Given the description of an element on the screen output the (x, y) to click on. 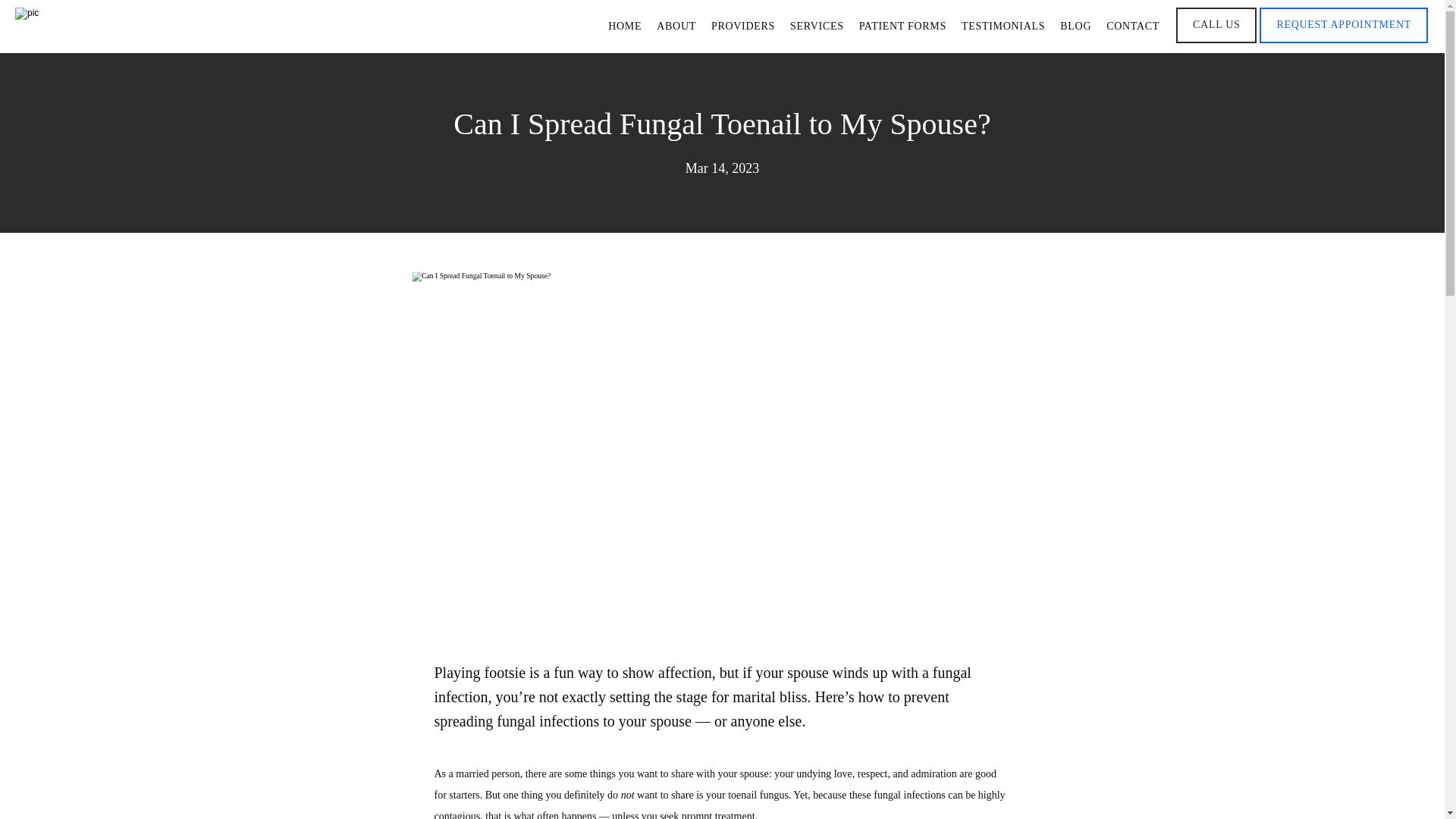
CALL US (1215, 41)
PROVIDERS (742, 25)
BLOG (1074, 25)
ABOUT (675, 25)
TESTIMONIALS (1002, 25)
PATIENT FORMS (902, 25)
REQUEST APPOINTMENT (1343, 41)
CONTACT (1132, 25)
SERVICES (817, 25)
HOME (625, 25)
